Given the description of an element on the screen output the (x, y) to click on. 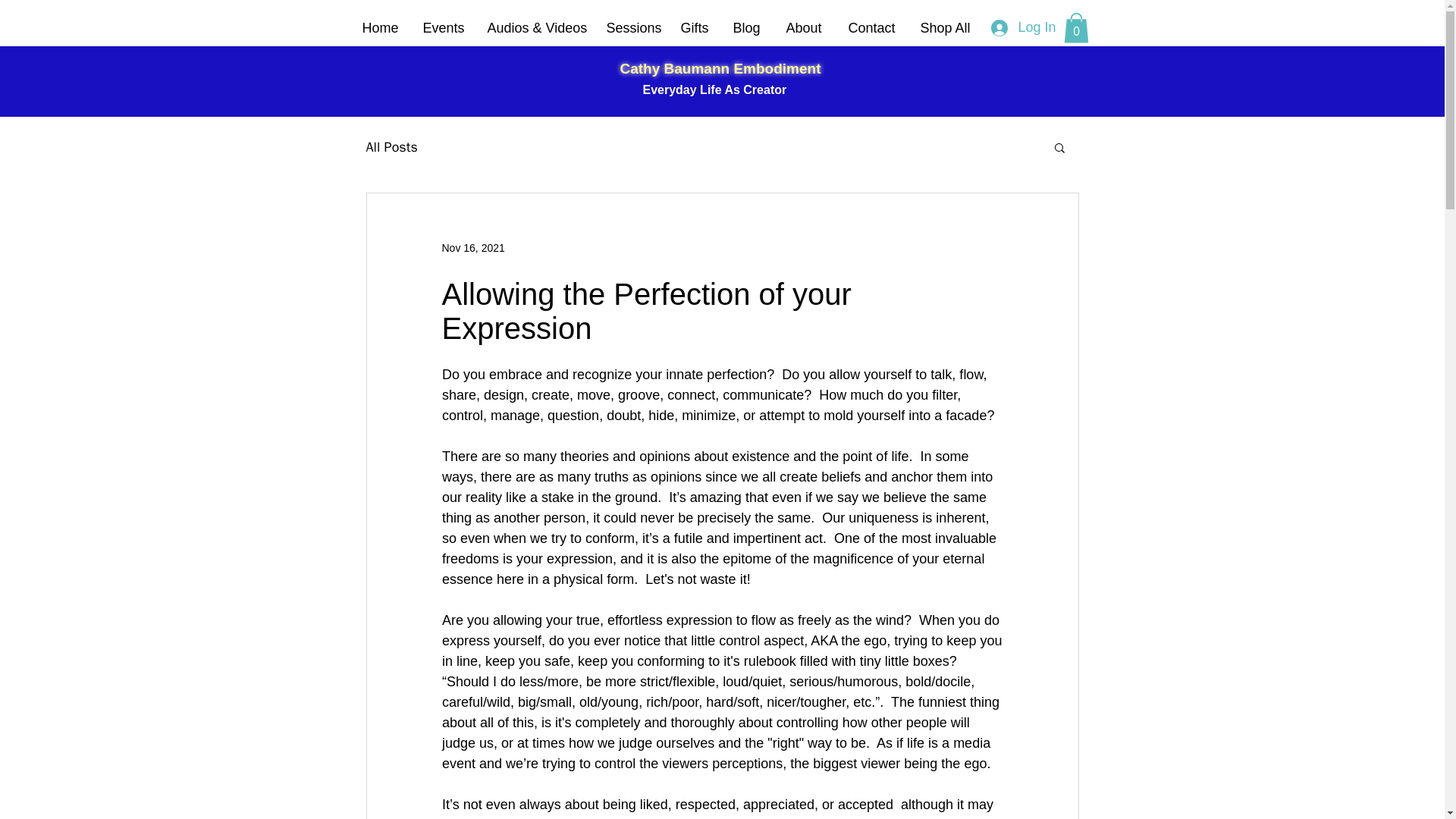
Home (380, 27)
Sessions (631, 27)
Log In (1020, 27)
Shop All (945, 27)
All Posts (390, 147)
Nov 16, 2021 (472, 247)
Contact (872, 27)
About (805, 27)
Events (443, 27)
Gifts (694, 27)
